Given the description of an element on the screen output the (x, y) to click on. 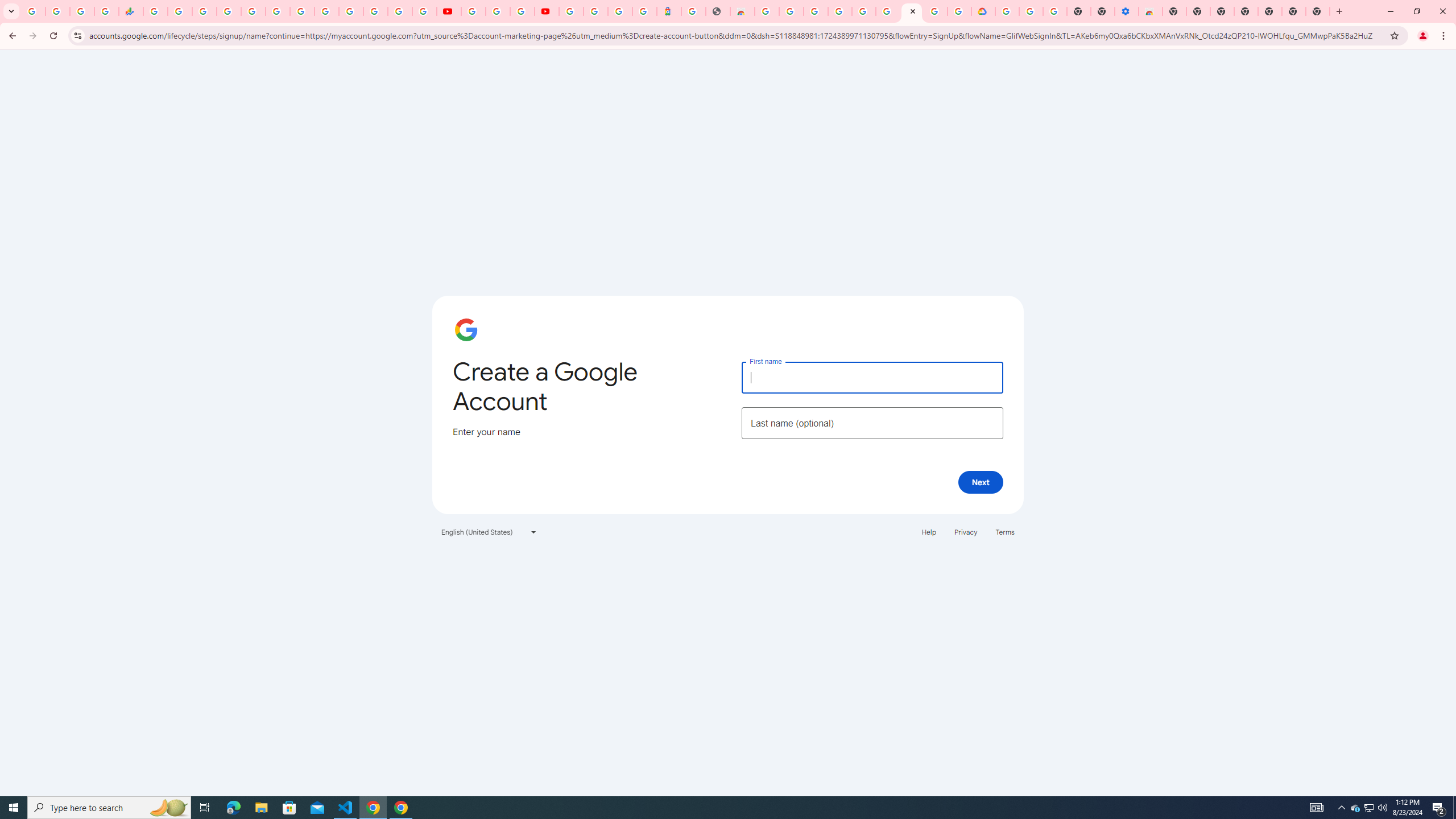
Create your Google Account (910, 11)
Sign in - Google Accounts (570, 11)
Google Account Help (497, 11)
Sign in - Google Accounts (1007, 11)
Chrome Web Store - Accessibility extensions (1150, 11)
YouTube (447, 11)
